Given the description of an element on the screen output the (x, y) to click on. 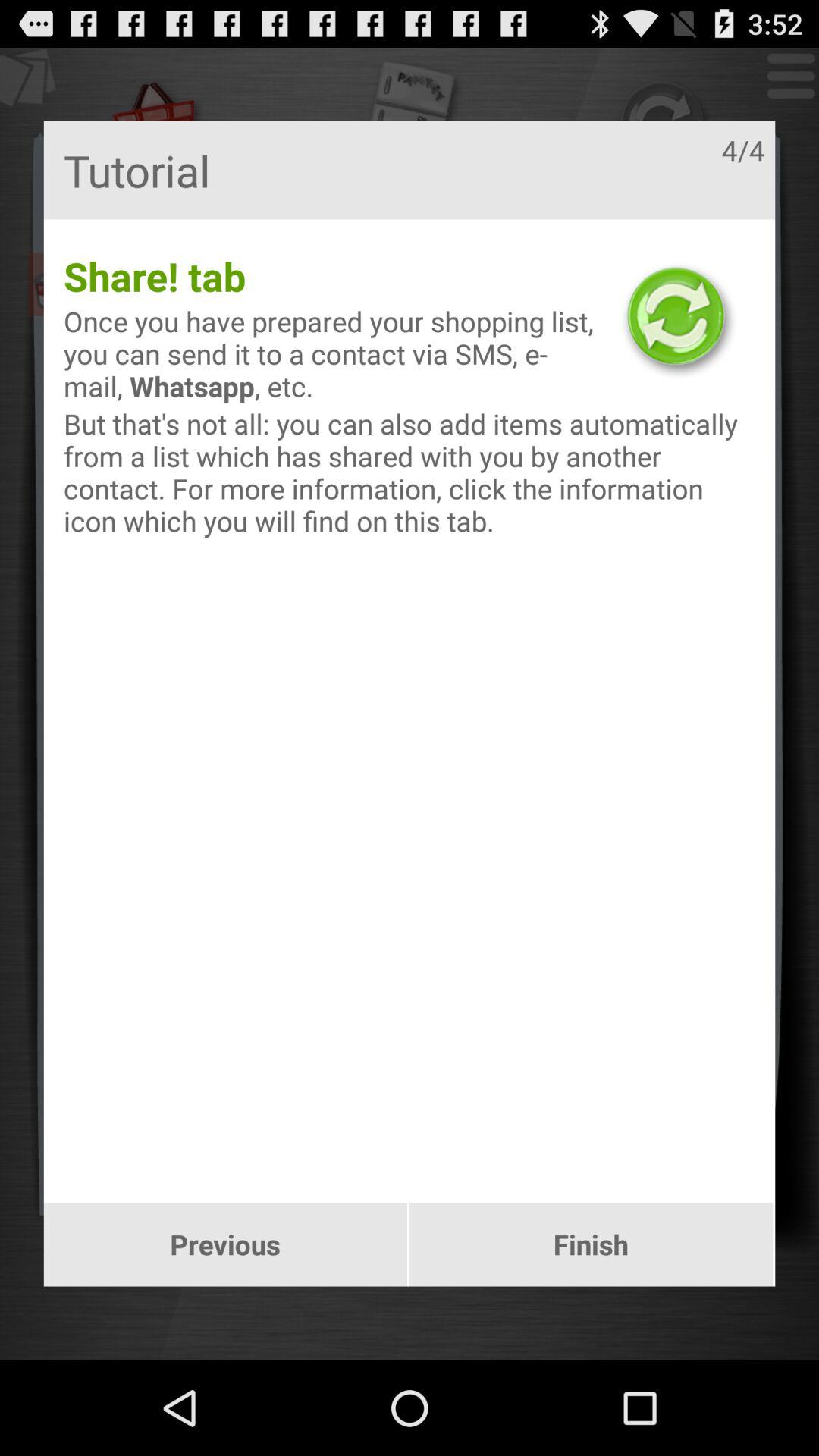
choose the button to the left of the finish (225, 1244)
